Given the description of an element on the screen output the (x, y) to click on. 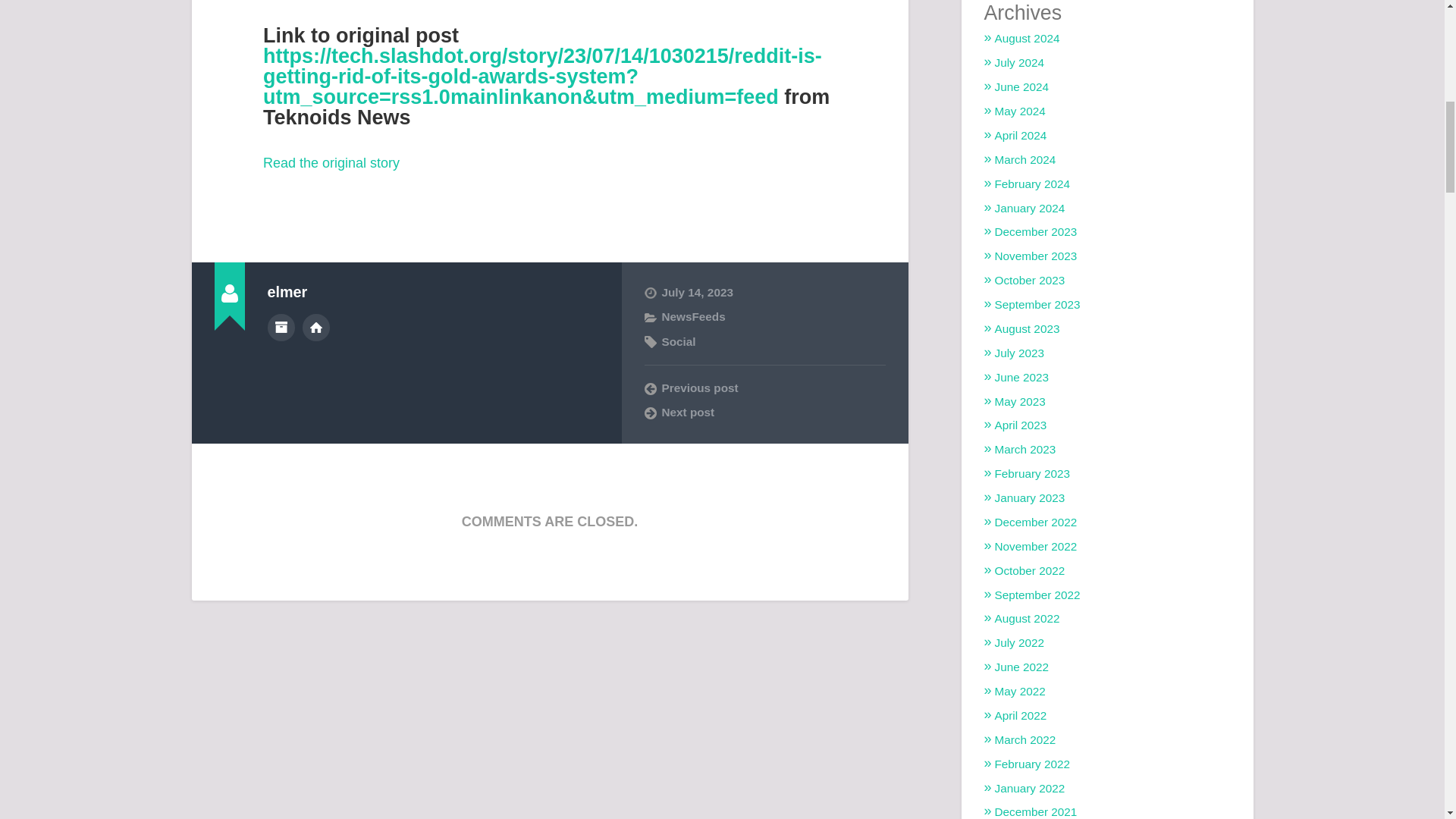
Author website (316, 327)
February 2024 (1032, 183)
April 2024 (1020, 134)
Next post (765, 412)
August 2024 (1026, 38)
NewsFeeds (693, 316)
Social (678, 341)
July 2024 (1018, 62)
May 2024 (1019, 110)
June 2024 (1021, 86)
